Given the description of an element on the screen output the (x, y) to click on. 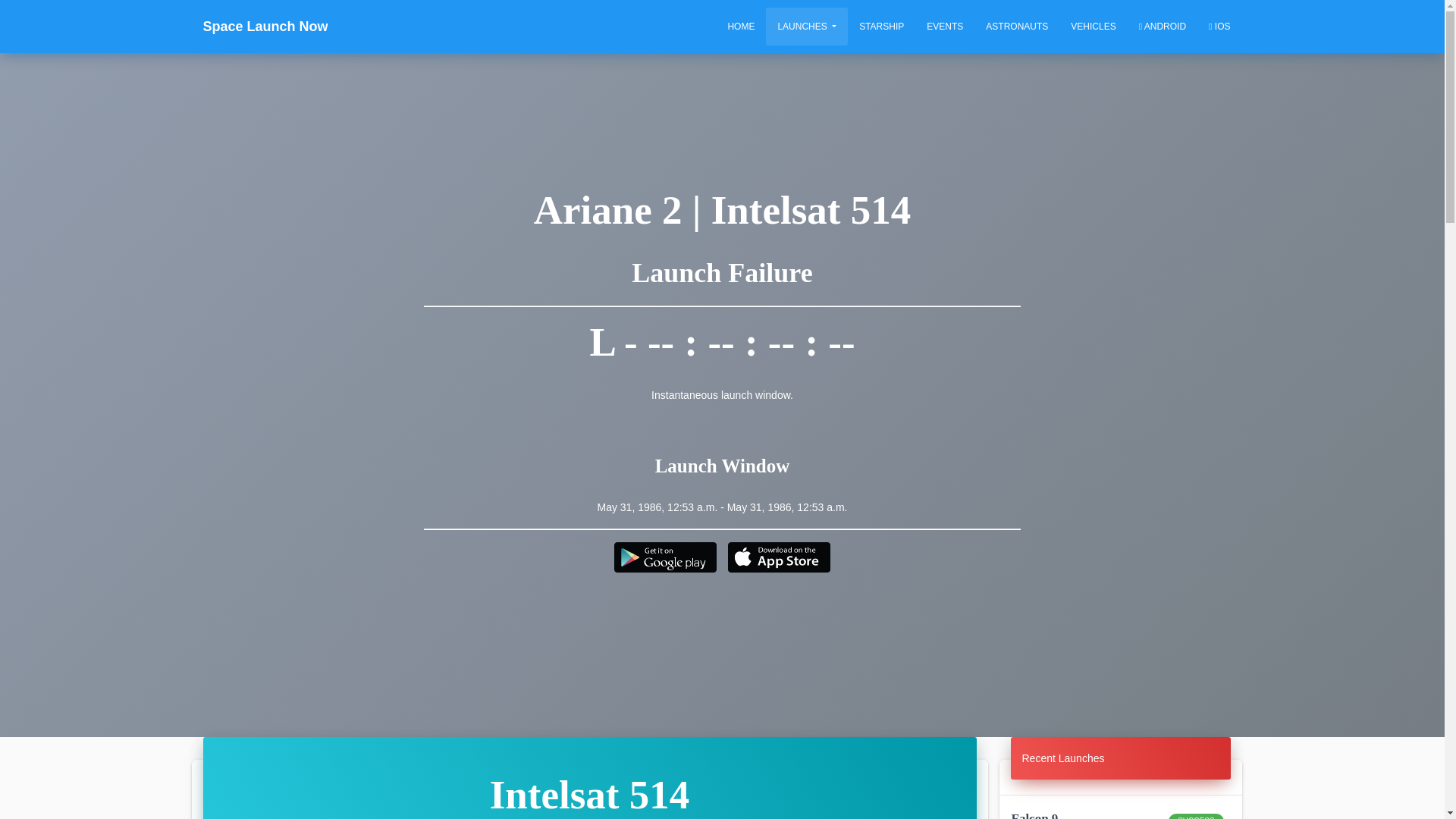
ASTRONAUTS (1016, 26)
ANDROID (1161, 26)
Recent Launches (1063, 758)
IOS (1218, 26)
STARSHIP (881, 26)
STARSHIP (881, 26)
ASTRONAUTS (1016, 26)
HOME (740, 26)
EVENTS (944, 26)
VEHICLES (1092, 26)
